Given the description of an element on the screen output the (x, y) to click on. 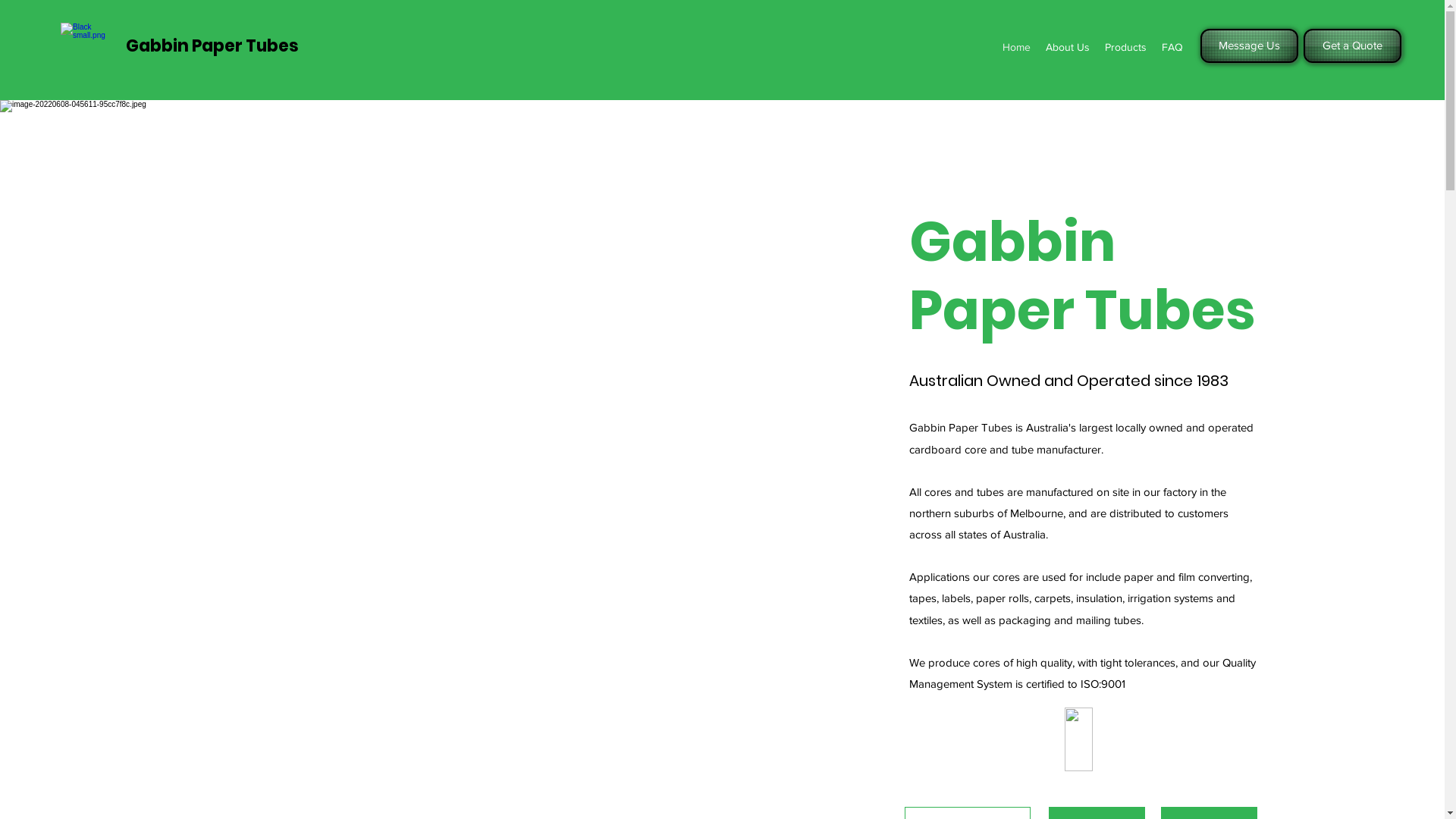
About Us Element type: text (1067, 46)
FAQ Element type: text (1172, 46)
Products Element type: text (1125, 46)
Home Element type: text (1016, 46)
Message Us Element type: text (1249, 45)
Quality-ISO-9001-PMS302.jpg Element type: hover (1078, 739)
Gabbin Paper Tubes Element type: text (211, 45)
Get a Quote Element type: text (1352, 45)
